Given the description of an element on the screen output the (x, y) to click on. 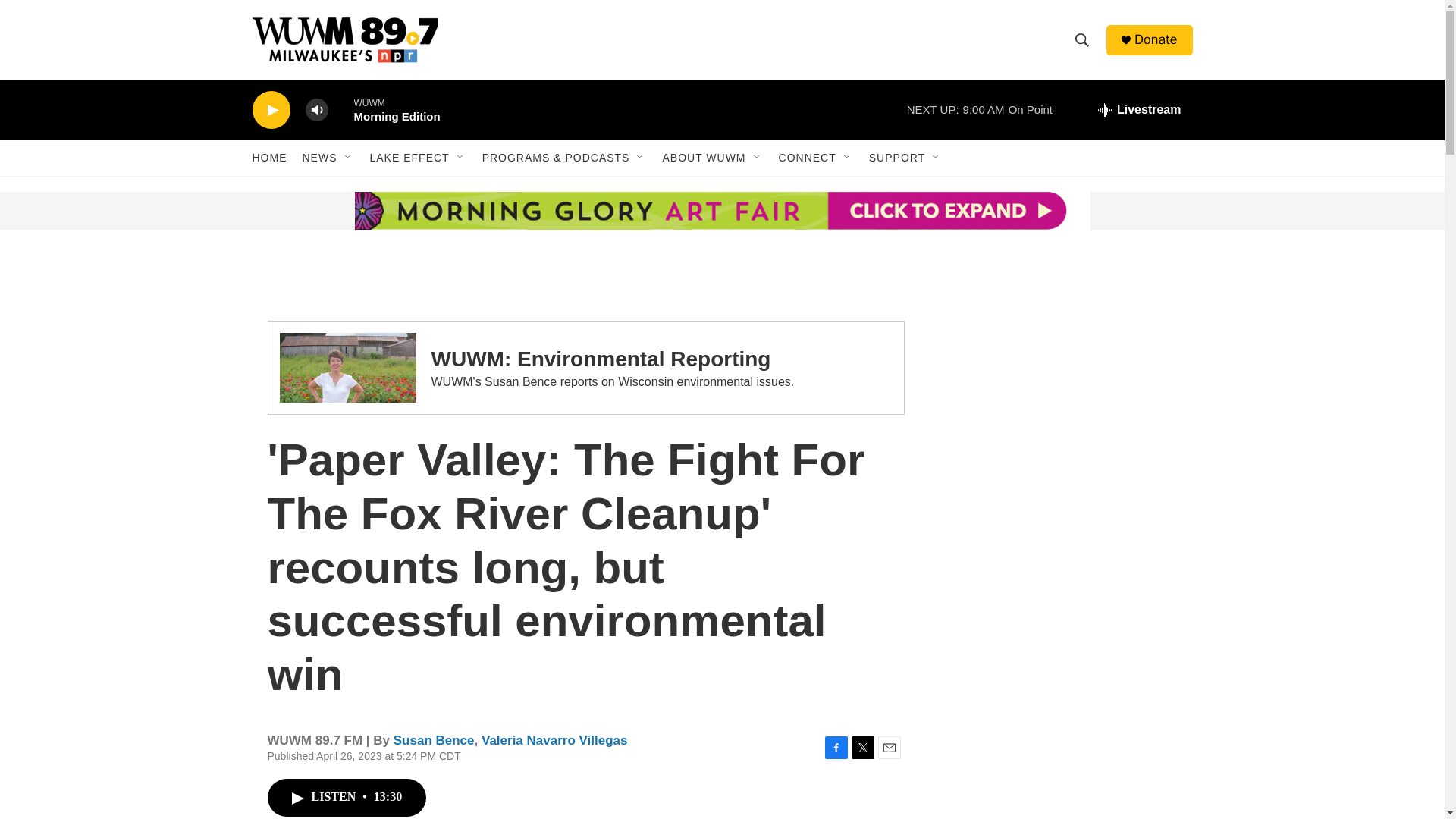
3rd party ad content (1062, 785)
3rd party ad content (1062, 608)
3rd party ad content (1062, 370)
3rd party ad content (367, 210)
